Given the description of an element on the screen output the (x, y) to click on. 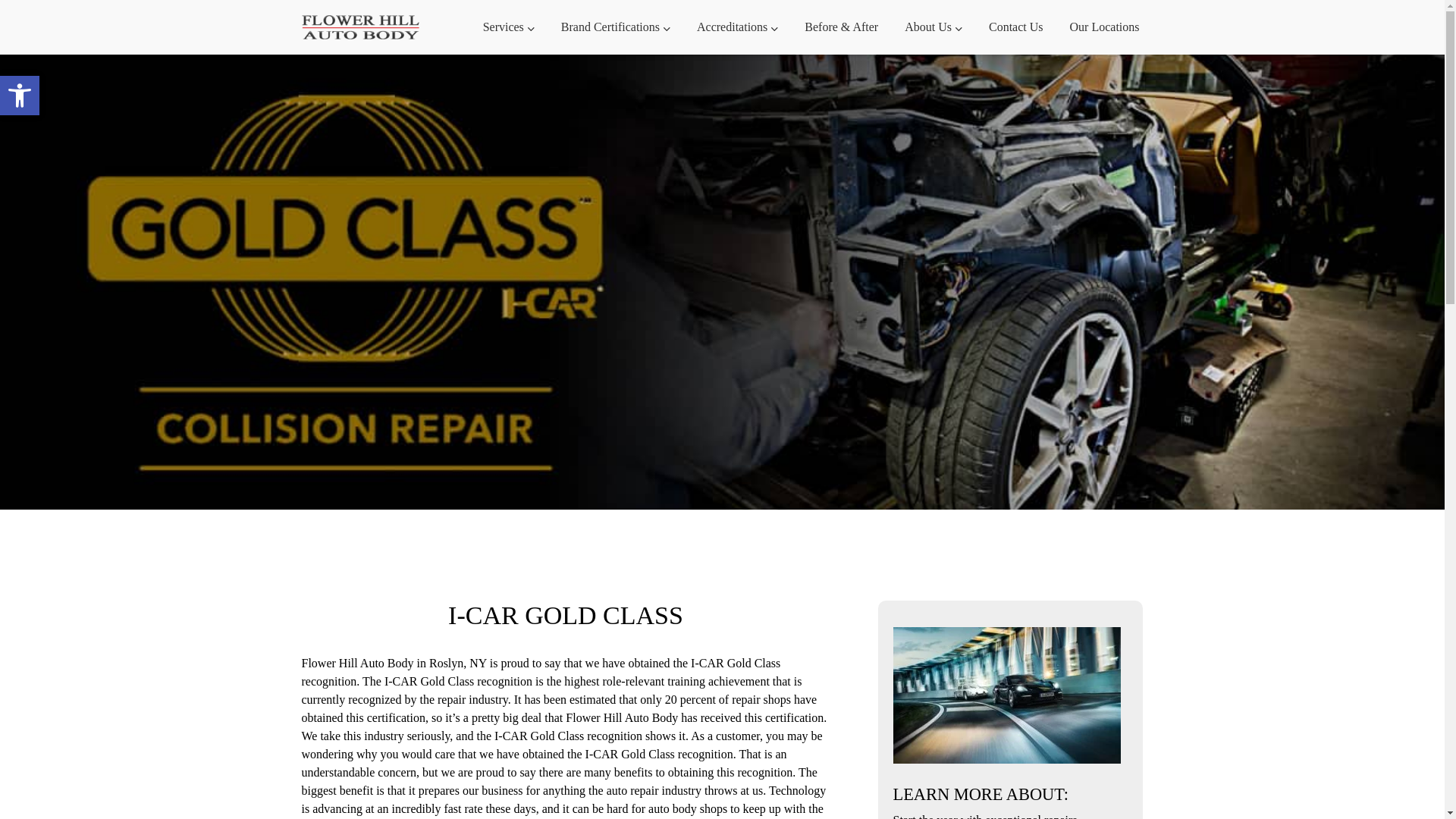
Accessibility Tools (19, 95)
Accessibility Tools (19, 95)
